Given the description of an element on the screen output the (x, y) to click on. 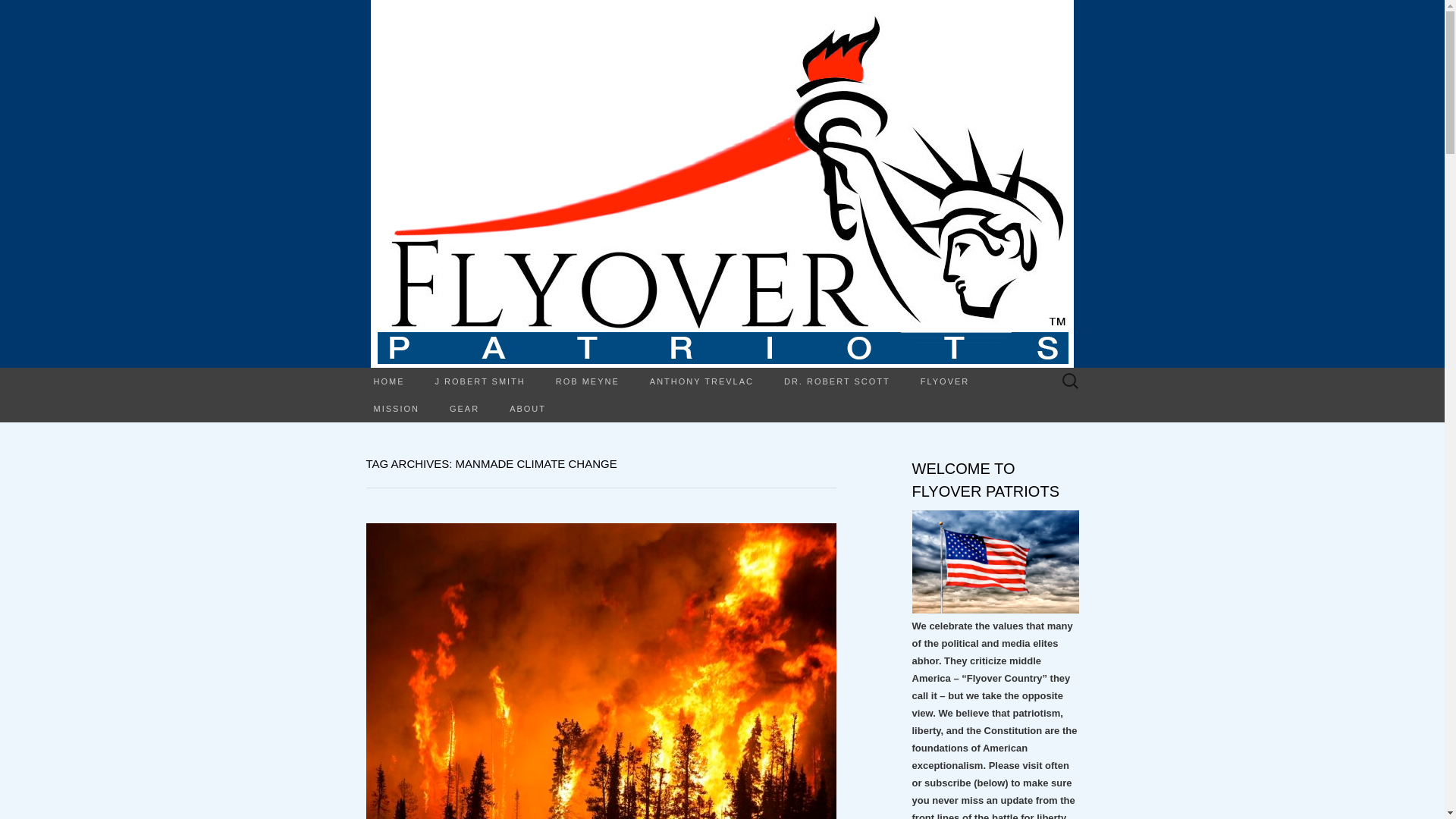
FLYOVER (945, 380)
Search (16, 12)
DR. ROBERT SCOTT (836, 380)
GEAR (464, 408)
ANTHONY TREVLAC (701, 380)
J ROBERT SMITH (480, 380)
MISSION (395, 408)
ROB MEYNE (587, 380)
HOME (388, 380)
